Given the description of an element on the screen output the (x, y) to click on. 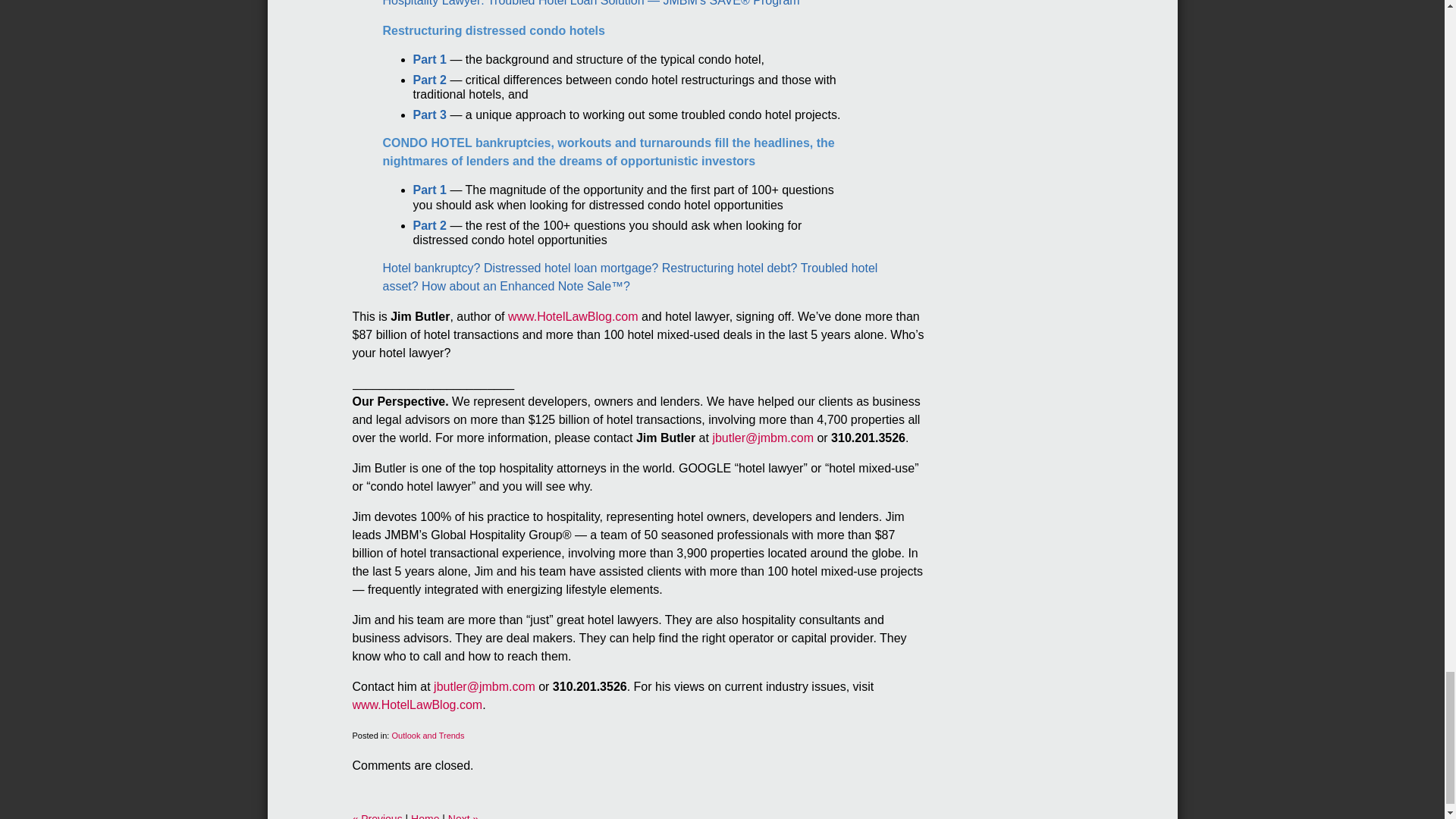
Part 3 (428, 114)
www.HotelLawBlog.com (573, 316)
Part 1 (428, 189)
Part 2 (428, 79)
Part 1 (428, 59)
Part 2 (428, 225)
Outlook and Trends (427, 735)
www.HotelLawBlog.com (416, 704)
View all posts in Outlook and Trends (427, 735)
